Given the description of an element on the screen output the (x, y) to click on. 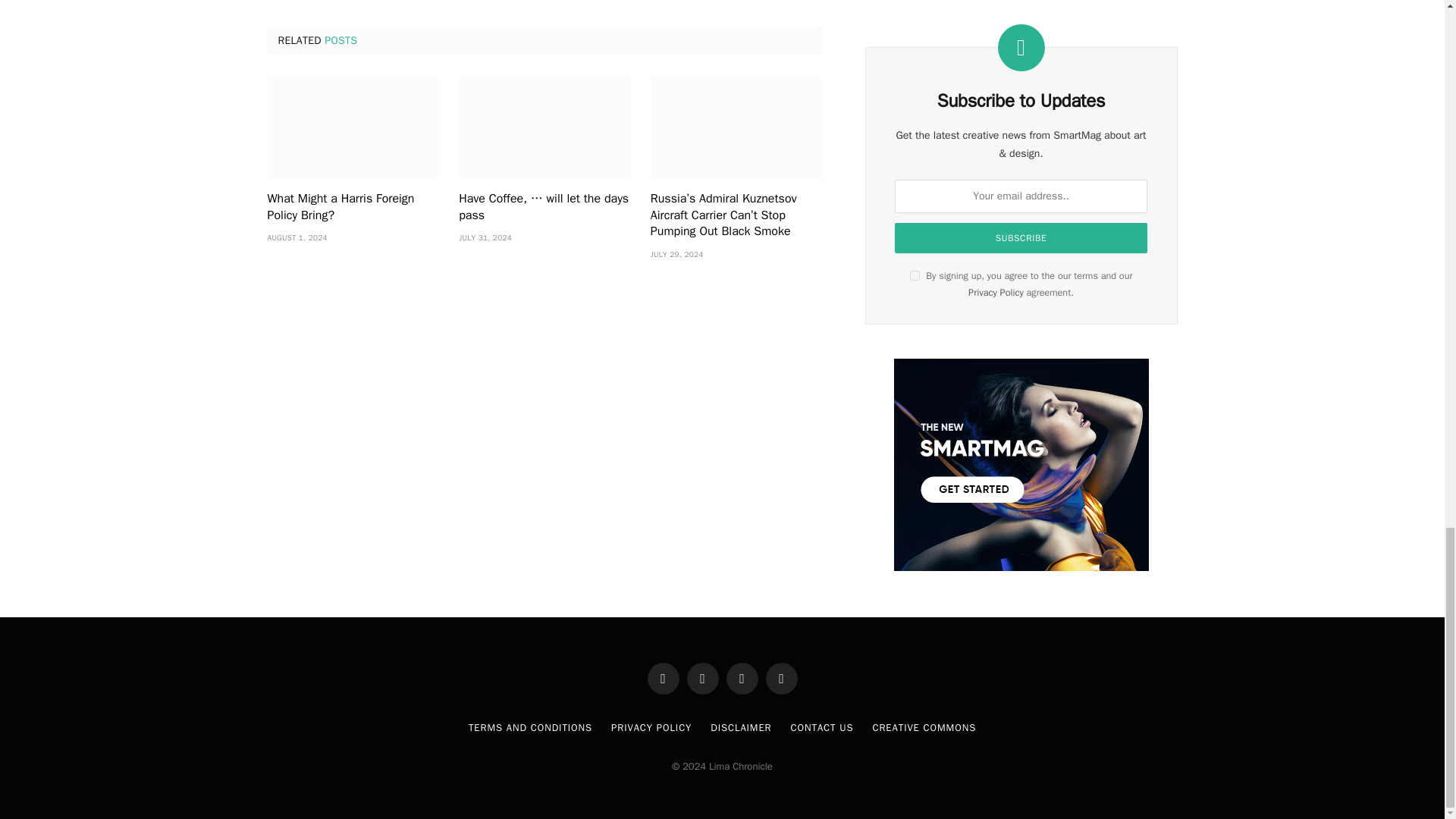
Subscribe (1021, 237)
on (915, 275)
